Given the description of an element on the screen output the (x, y) to click on. 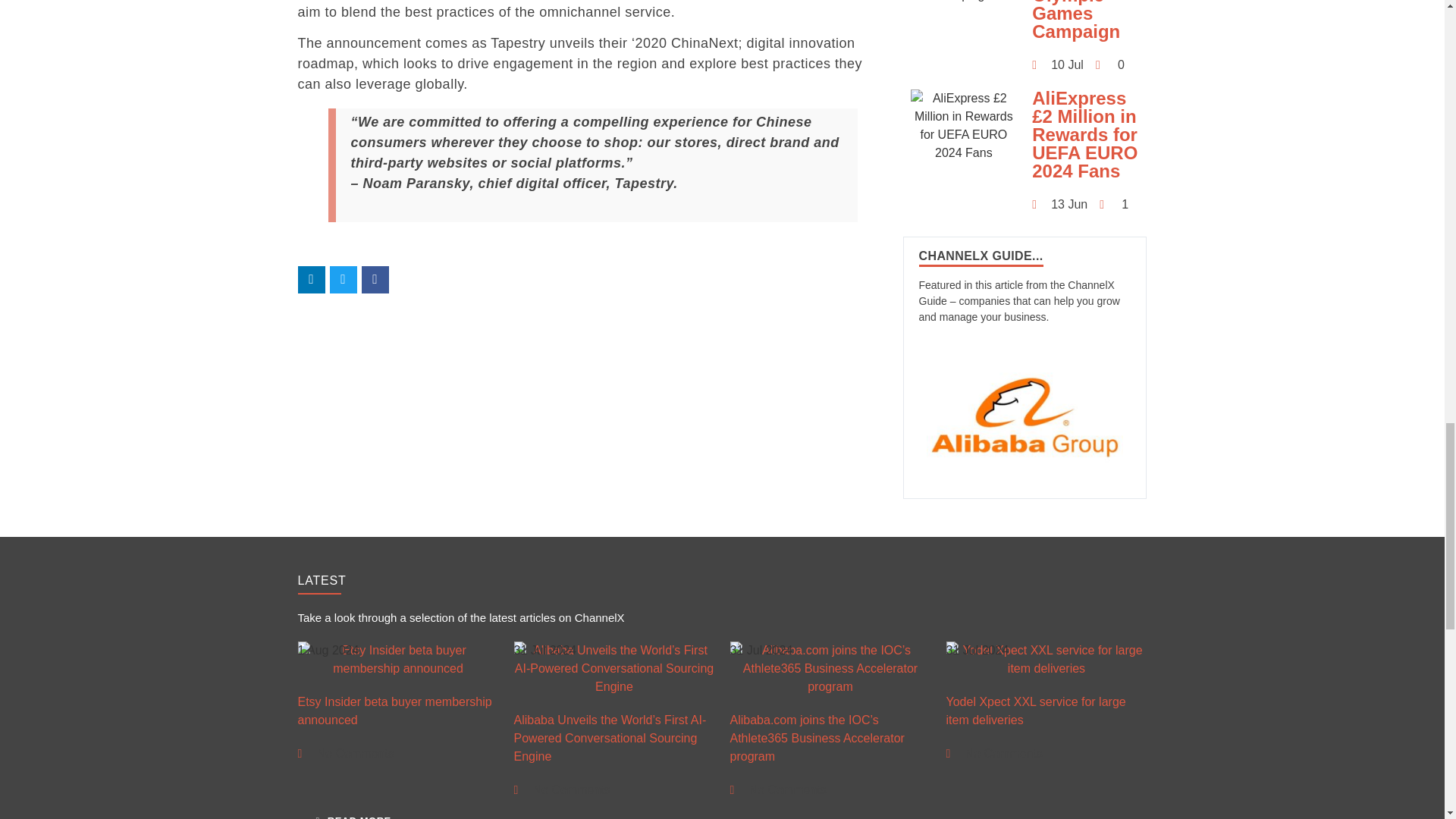
eBay Open 2024 to be held on 25-26 September (397, 529)
FBA-Heavy-and-Bulky-Spain-launched-with-120kg-allowance (829, 529)
ChannelX World 2024 to take place on 9th October (1046, 529)
